Given the description of an element on the screen output the (x, y) to click on. 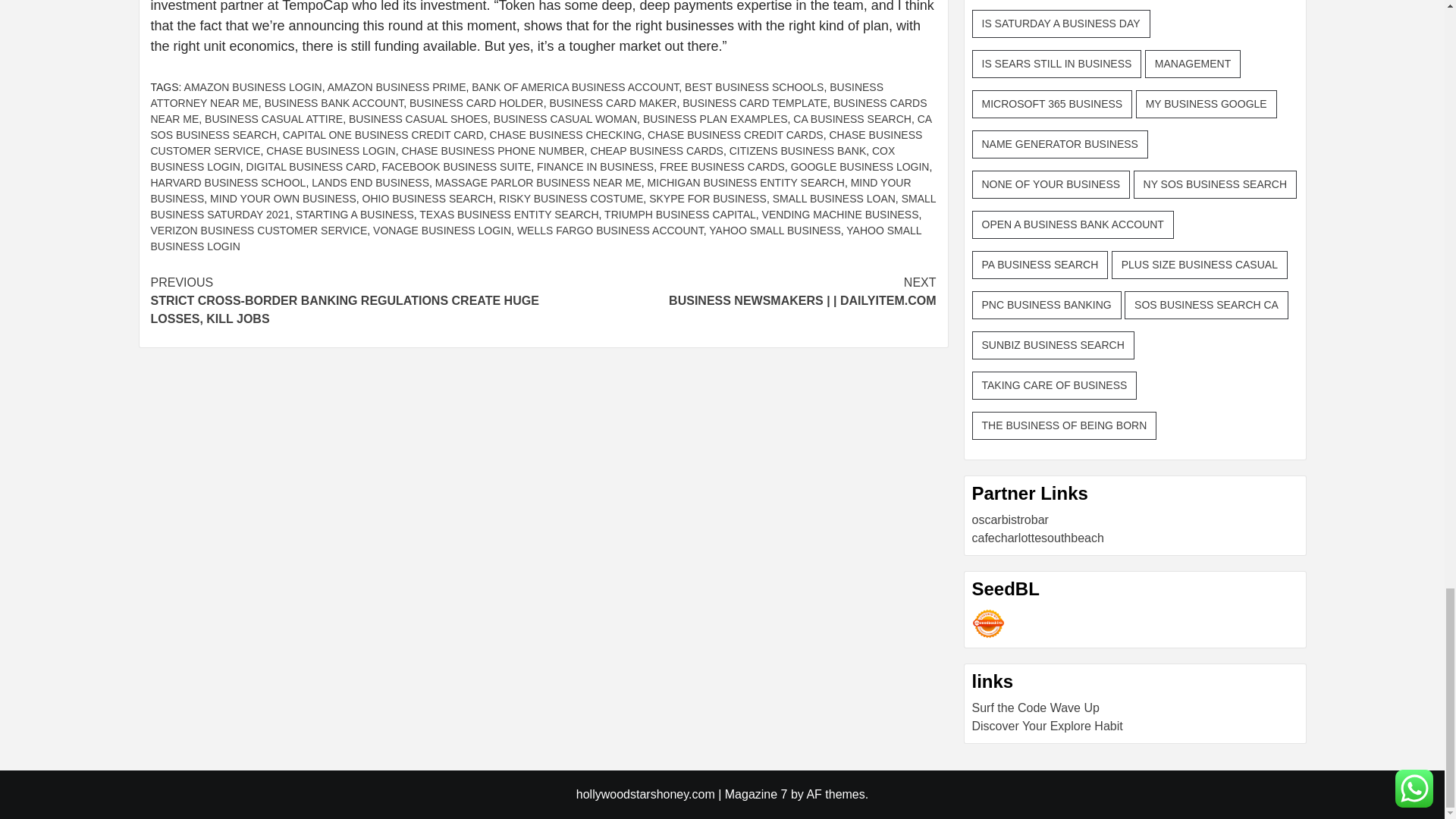
BUSINESS CARD MAKER (612, 102)
AMAZON BUSINESS LOGIN (252, 87)
BUSINESS BANK ACCOUNT (334, 102)
BUSINESS CARD HOLDER (476, 102)
BEST BUSINESS SCHOOLS (754, 87)
Seedbacklink (988, 623)
AMAZON BUSINESS PRIME (396, 87)
BUSINESS CASUAL SHOES (418, 119)
BUSINESS ATTORNEY NEAR ME (516, 94)
BUSINESS CASUAL ATTIRE (273, 119)
BUSINESS CARDS NEAR ME (537, 111)
BUSINESS CARD TEMPLATE (754, 102)
BANK OF AMERICA BUSINESS ACCOUNT (574, 87)
